Given the description of an element on the screen output the (x, y) to click on. 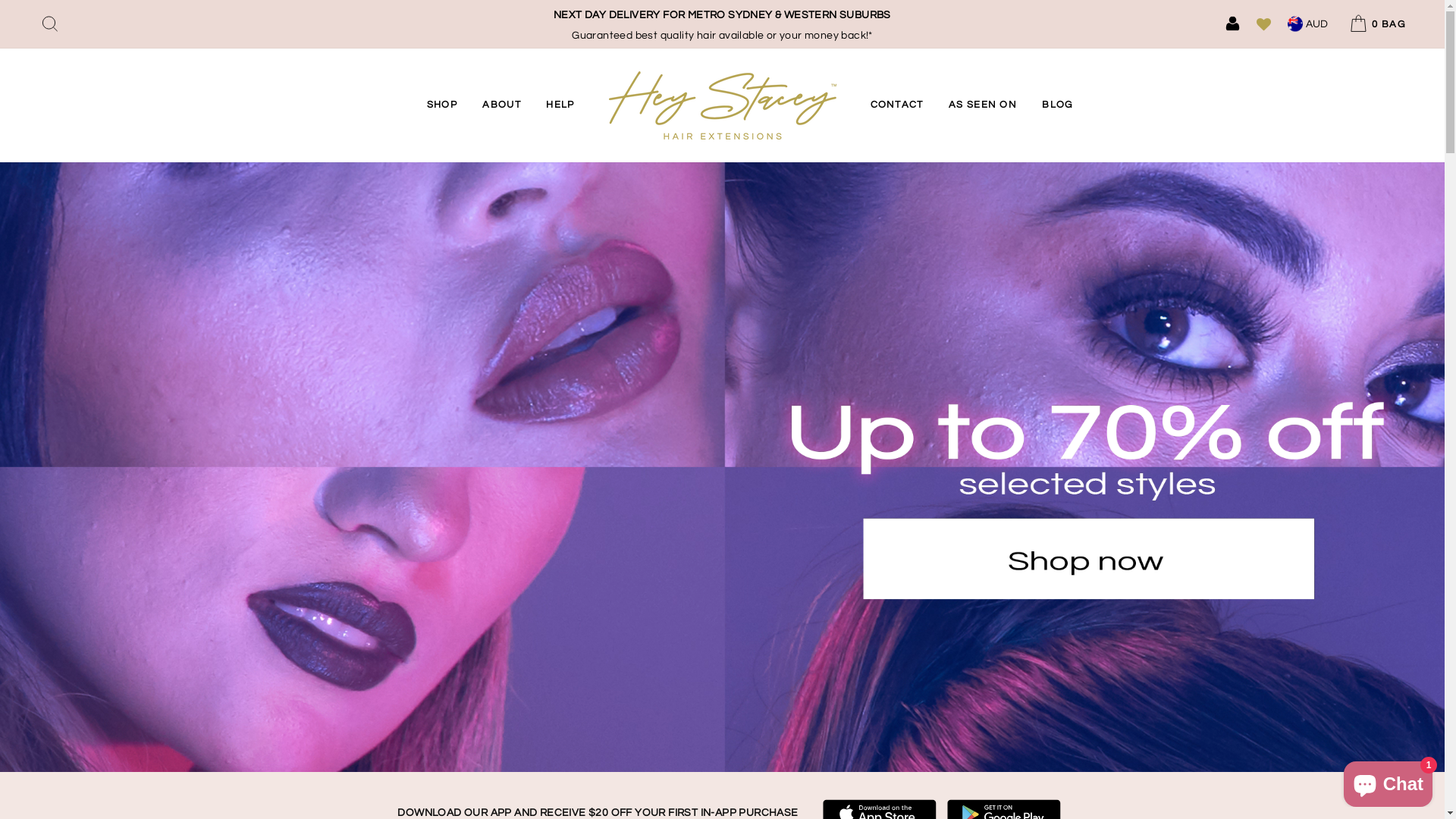
Skip to content Element type: text (0, 0)
HELP Element type: text (559, 105)
Shopify online store chat Element type: hover (1388, 780)
AUD Element type: text (1307, 23)
CART
0 BAG Element type: text (1376, 23)
SEARCH Element type: text (49, 23)
AS SEEN ON Element type: text (982, 105)
NEXT DAY DELIVERY FOR METRO SYDNEY & WESTERN SUBURBS Element type: text (722, 15)
ABOUT Element type: text (501, 105)
SHOP Element type: text (441, 105)
CONTACT Element type: text (896, 105)
BLOG Element type: text (1056, 105)
